Given the description of an element on the screen output the (x, y) to click on. 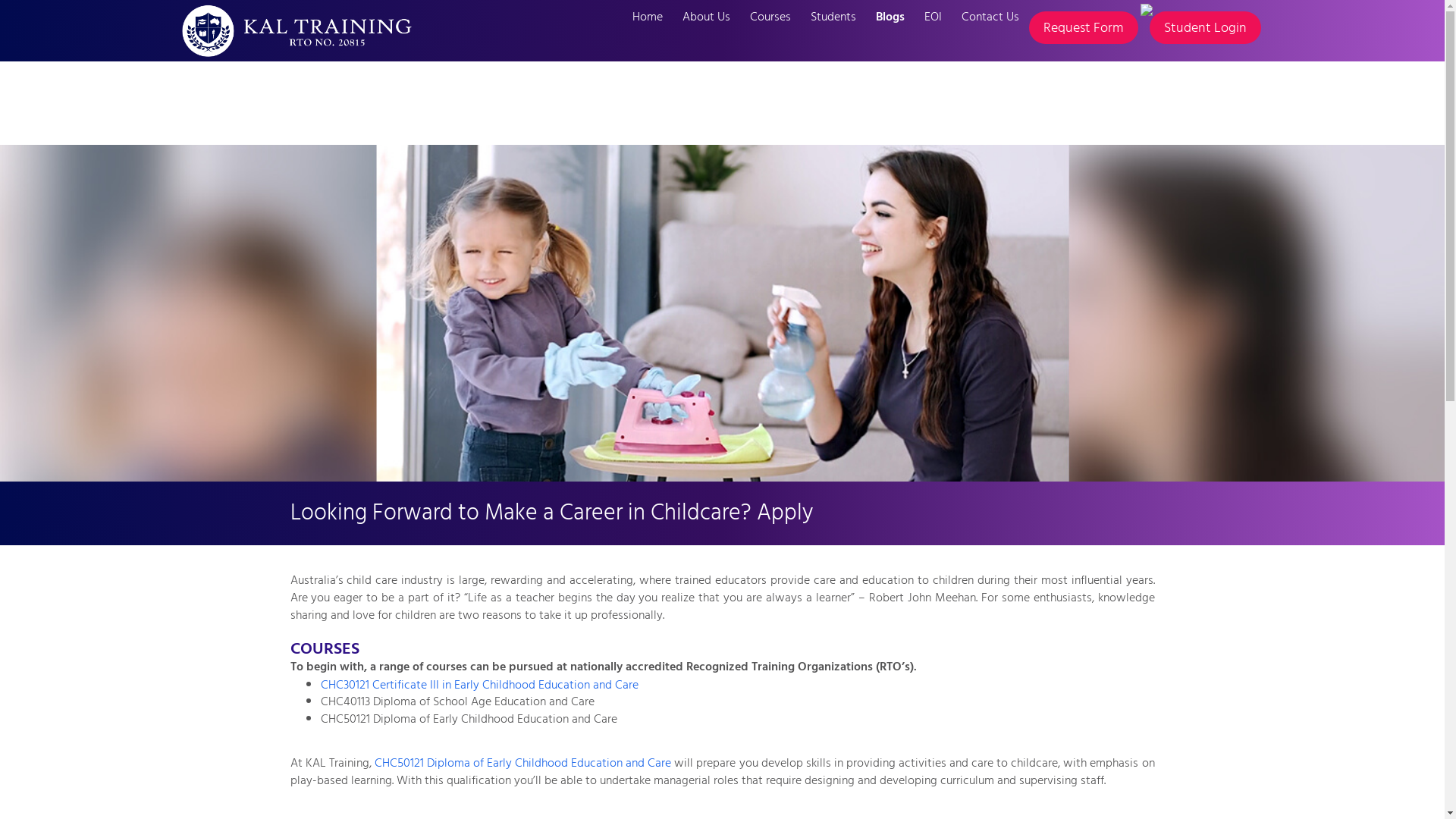
CHC50121 Diploma of Early Childhood Education and Care Element type: text (522, 762)
Courses Element type: text (770, 17)
EOI Element type: text (932, 17)
Contact Us Element type: text (989, 17)
Request Form Element type: text (1082, 26)
About Us Element type: text (705, 17)
Blogs Element type: text (890, 17)
Home Element type: text (646, 17)
Students Element type: text (833, 17)
Student Login Element type: text (1205, 26)
